Given the description of an element on the screen output the (x, y) to click on. 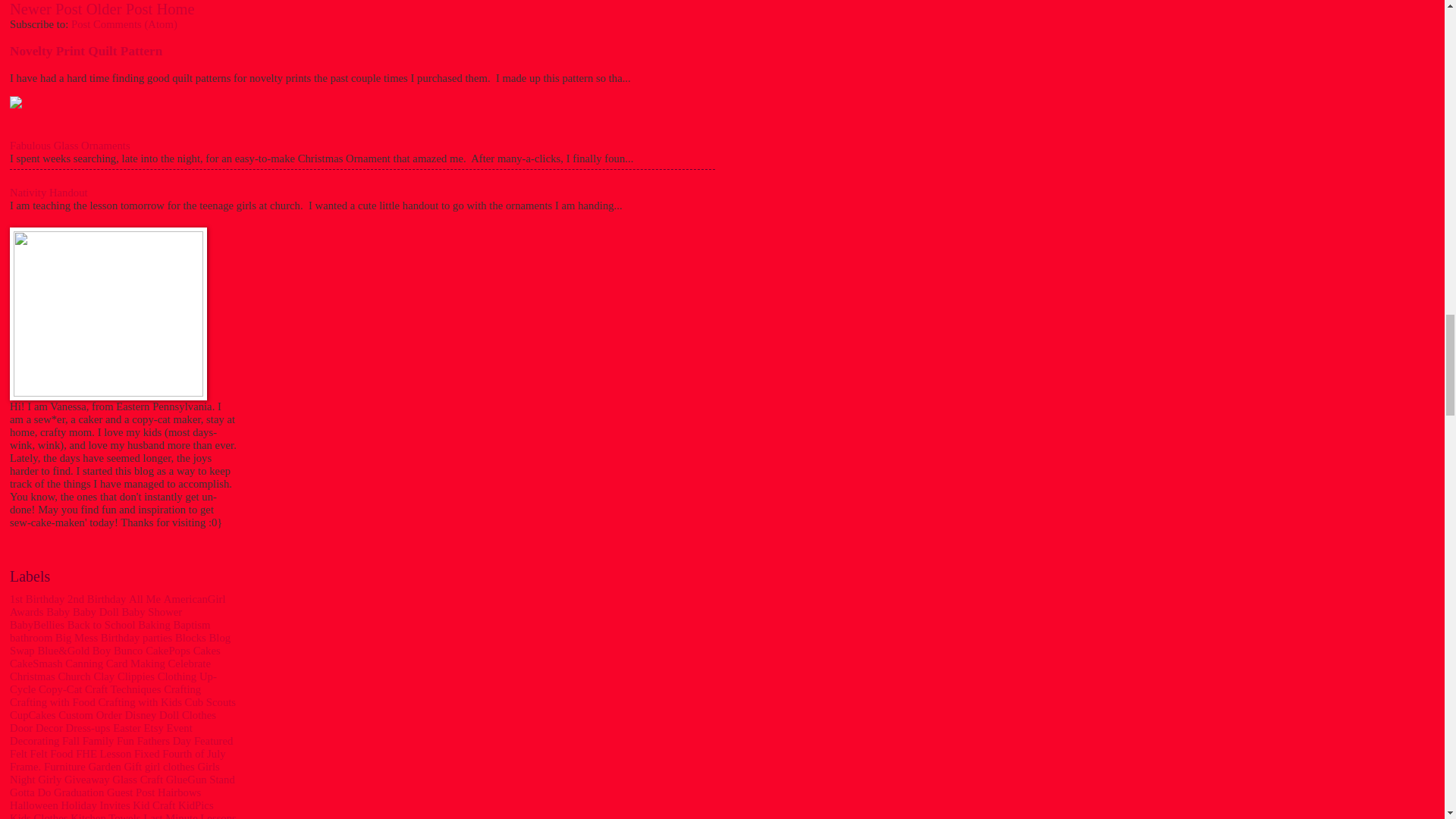
Baby Doll (95, 612)
Awards (26, 612)
Baby (57, 612)
1st Birthday (37, 598)
Baby Shower (151, 612)
AmericanGirl (194, 598)
All Me (144, 598)
Fabulous Glass Ornaments (70, 145)
Newer Post (46, 8)
Home (174, 8)
Nativity Handout (48, 192)
Novelty Print Quilt Pattern (85, 51)
Newer Post (46, 8)
Older Post (118, 8)
Older Post (118, 8)
